Given the description of an element on the screen output the (x, y) to click on. 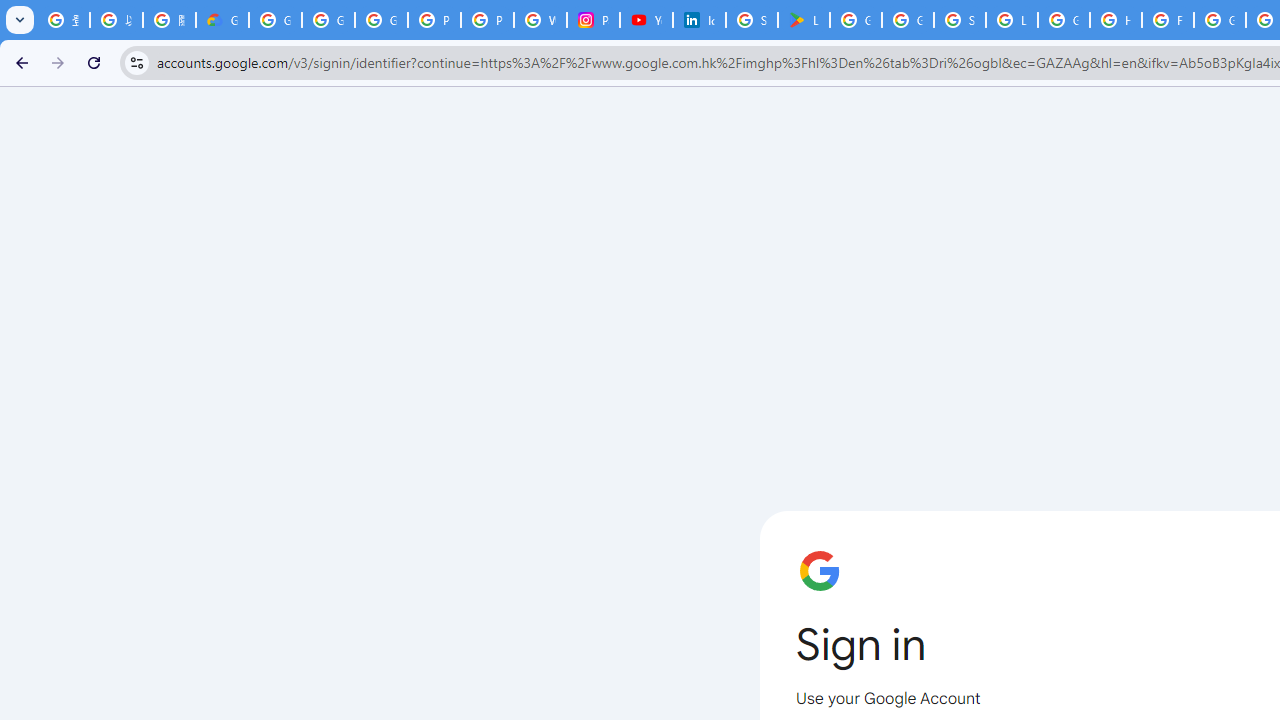
How do I create a new Google Account? - Google Account Help (1115, 20)
Privacy Help Center - Policies Help (487, 20)
Sign in - Google Accounts (959, 20)
YouTube Culture & Trends - On The Rise: Handcam Videos (646, 20)
Last Shelter: Survival - Apps on Google Play (803, 20)
